Given the description of an element on the screen output the (x, y) to click on. 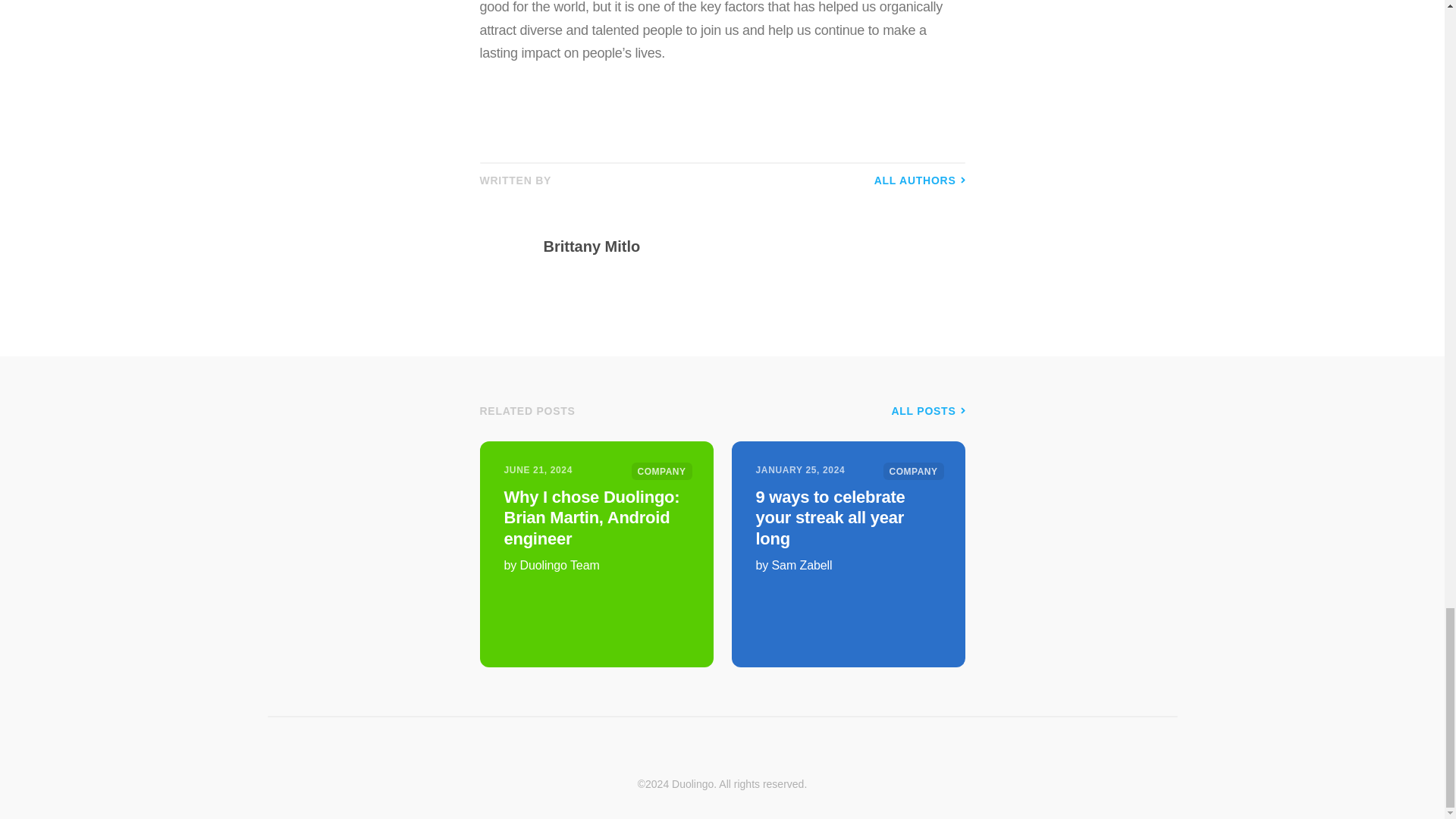
ALL POSTS (927, 410)
Brittany Mitlo (749, 246)
ALL AUTHORS (920, 180)
